Given the description of an element on the screen output the (x, y) to click on. 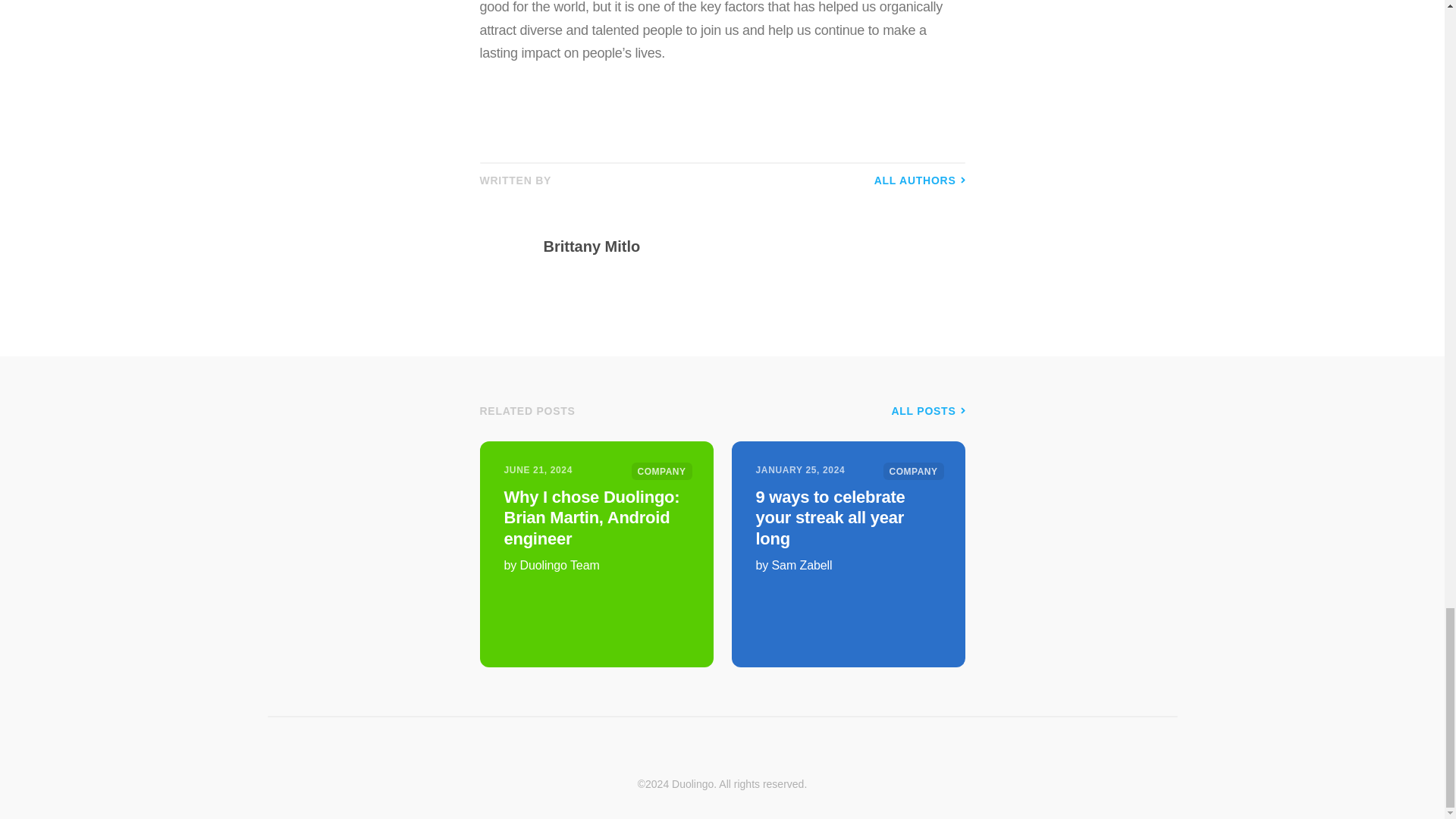
ALL POSTS (927, 410)
Brittany Mitlo (749, 246)
ALL AUTHORS (920, 180)
